Given the description of an element on the screen output the (x, y) to click on. 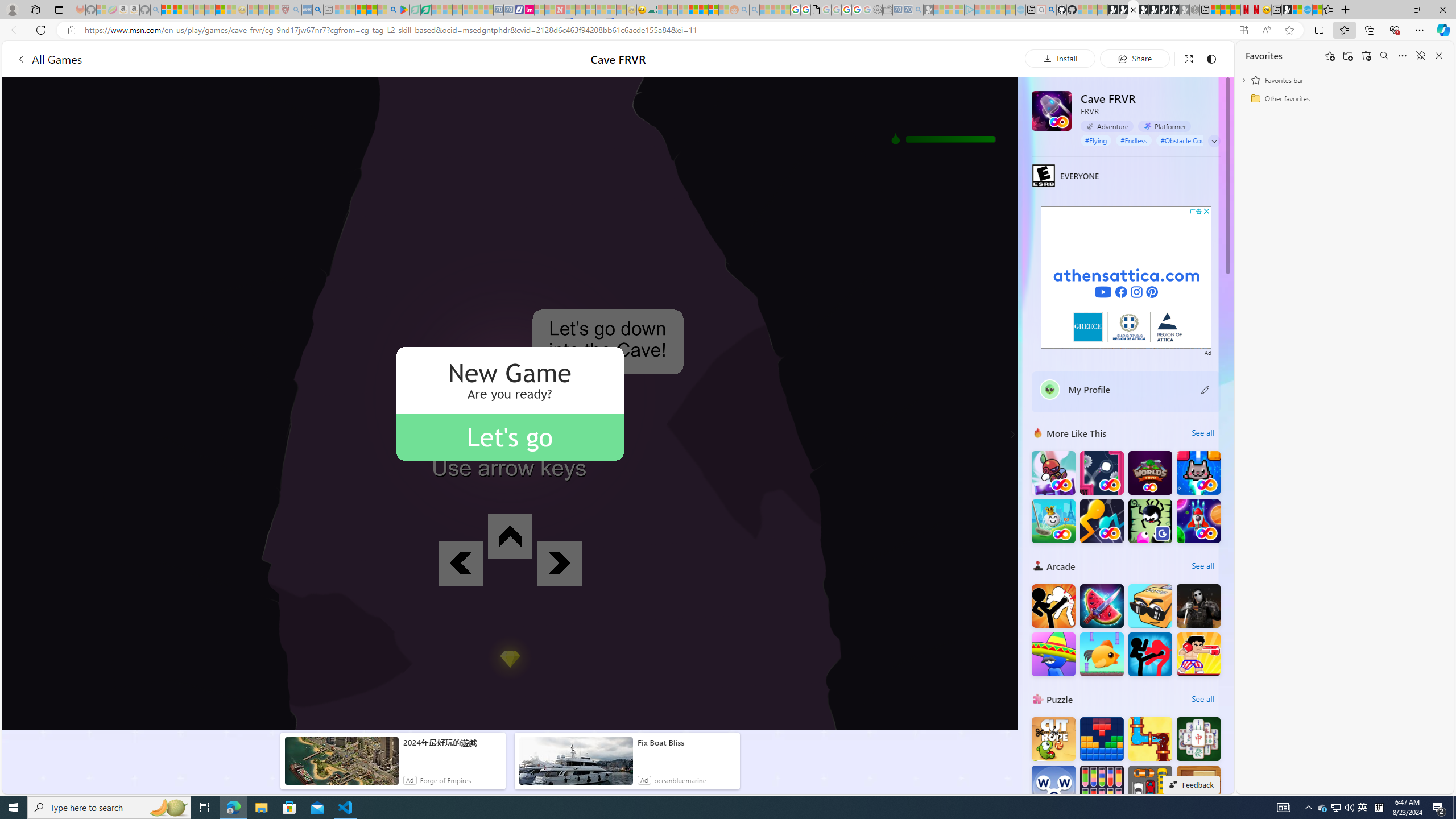
Cave FRVR (1051, 110)
anim-content (576, 765)
Class: expand-arrow neutral (1214, 141)
Cut the Rope (1053, 738)
Wally Jump FRVR (1101, 472)
